Given the description of an element on the screen output the (x, y) to click on. 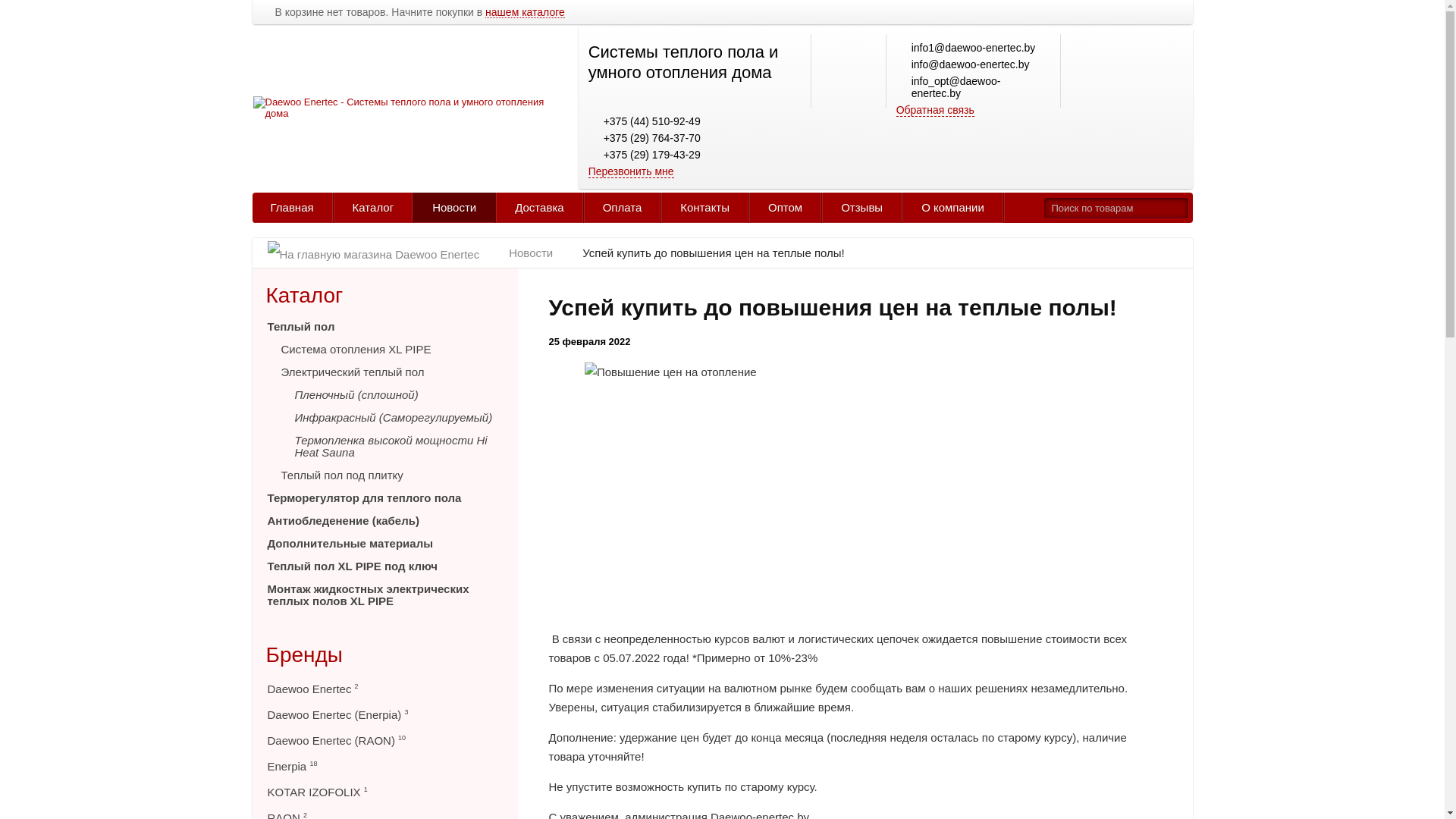
Enerpia 18 Element type: text (384, 765)
KOTAR IZOFOLIX 1 Element type: text (384, 790)
Daewoo Enertec (Enerpia) 3 Element type: text (384, 713)
Daewoo Enertec (RAON) 10 Element type: text (384, 739)
Daewoo Enertec 2 Element type: text (384, 687)
  Element type: text (1177, 207)
